Given the description of an element on the screen output the (x, y) to click on. 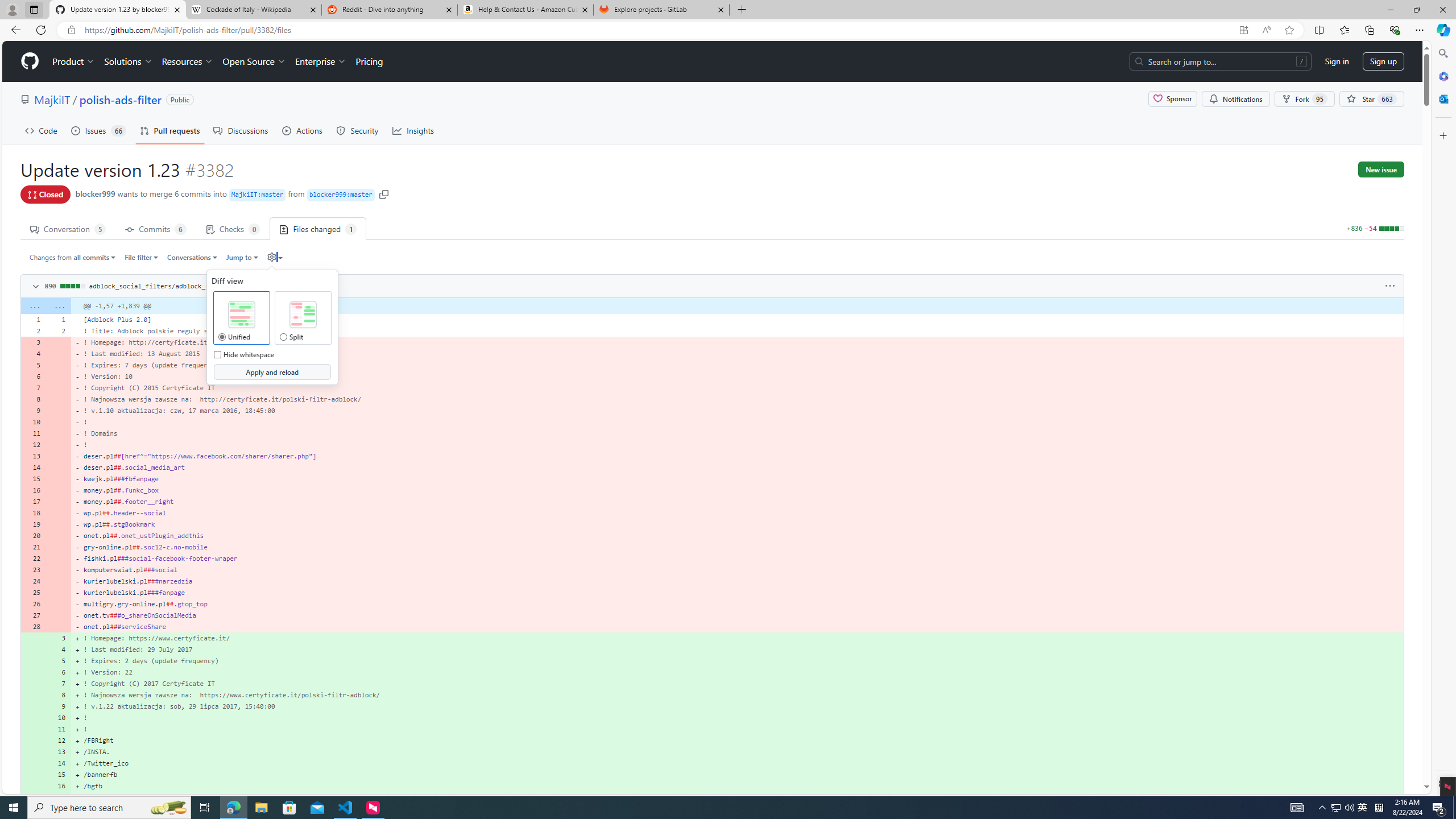
App available. Install GitHub (1243, 29)
- gry-online.pl##.soc12-c.no-mobile (737, 546)
Actions (302, 130)
Copy (270, 284)
 Conversation 5 (68, 228)
Fork 95 (1304, 98)
+ ! Version: 22 (737, 672)
9 (58, 706)
+ ! Expires: 2 days (update frequency)  (737, 660)
2 (58, 330)
Issues 66 (98, 130)
Unified Diff View Unified (221, 336)
+ ! Copyright (C) 2017 Certyficate IT (737, 683)
